Given the description of an element on the screen output the (x, y) to click on. 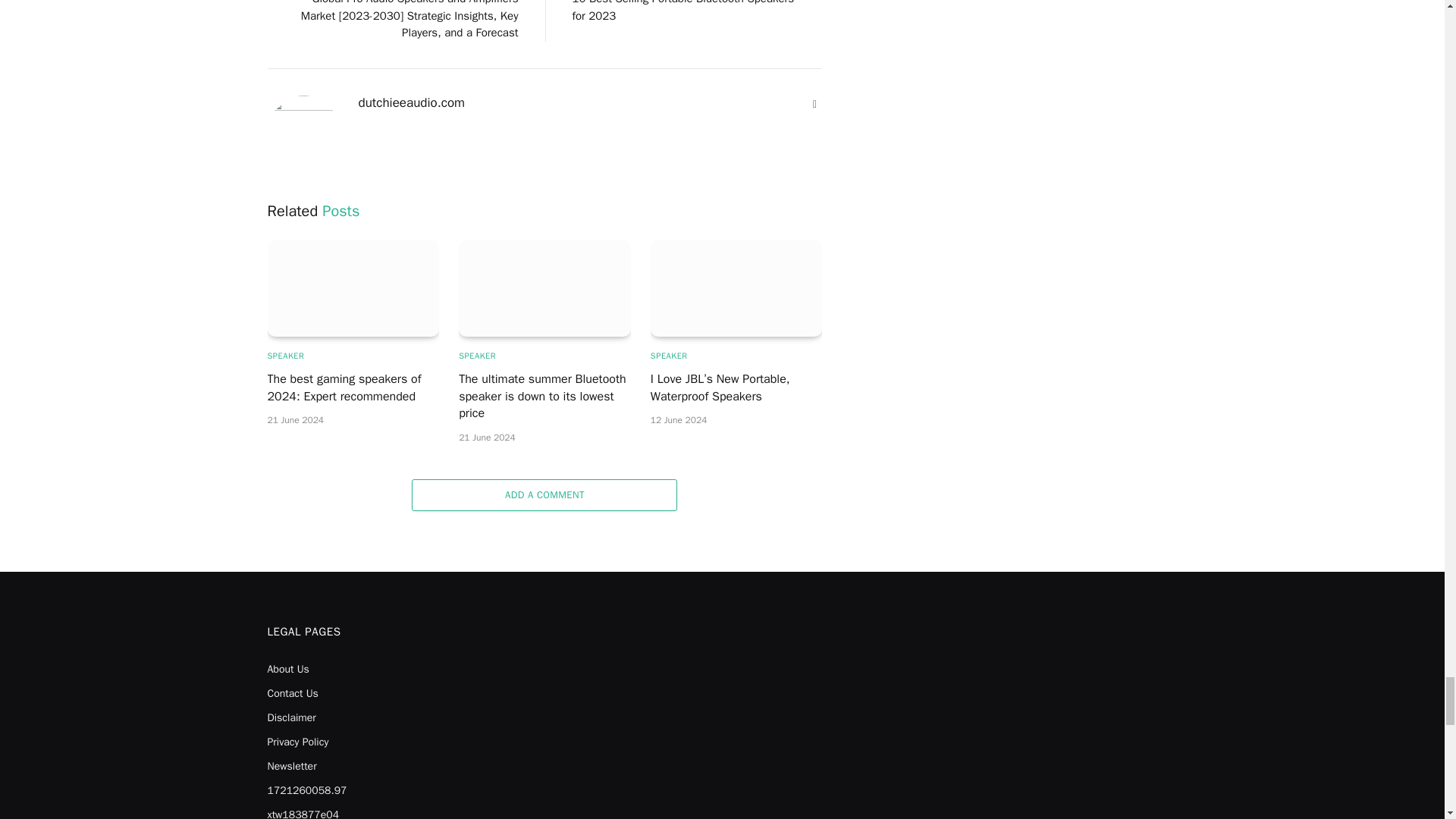
The best gaming speakers of 2024: Expert recommended (352, 288)
10 Best Selling Portable Bluetooth Speakers for 2023 (682, 11)
SPEAKER (285, 355)
Website (814, 104)
Website (814, 104)
dutchieeaudio.com (411, 102)
Posts by dutchieeaudio.com (411, 102)
